Given the description of an element on the screen output the (x, y) to click on. 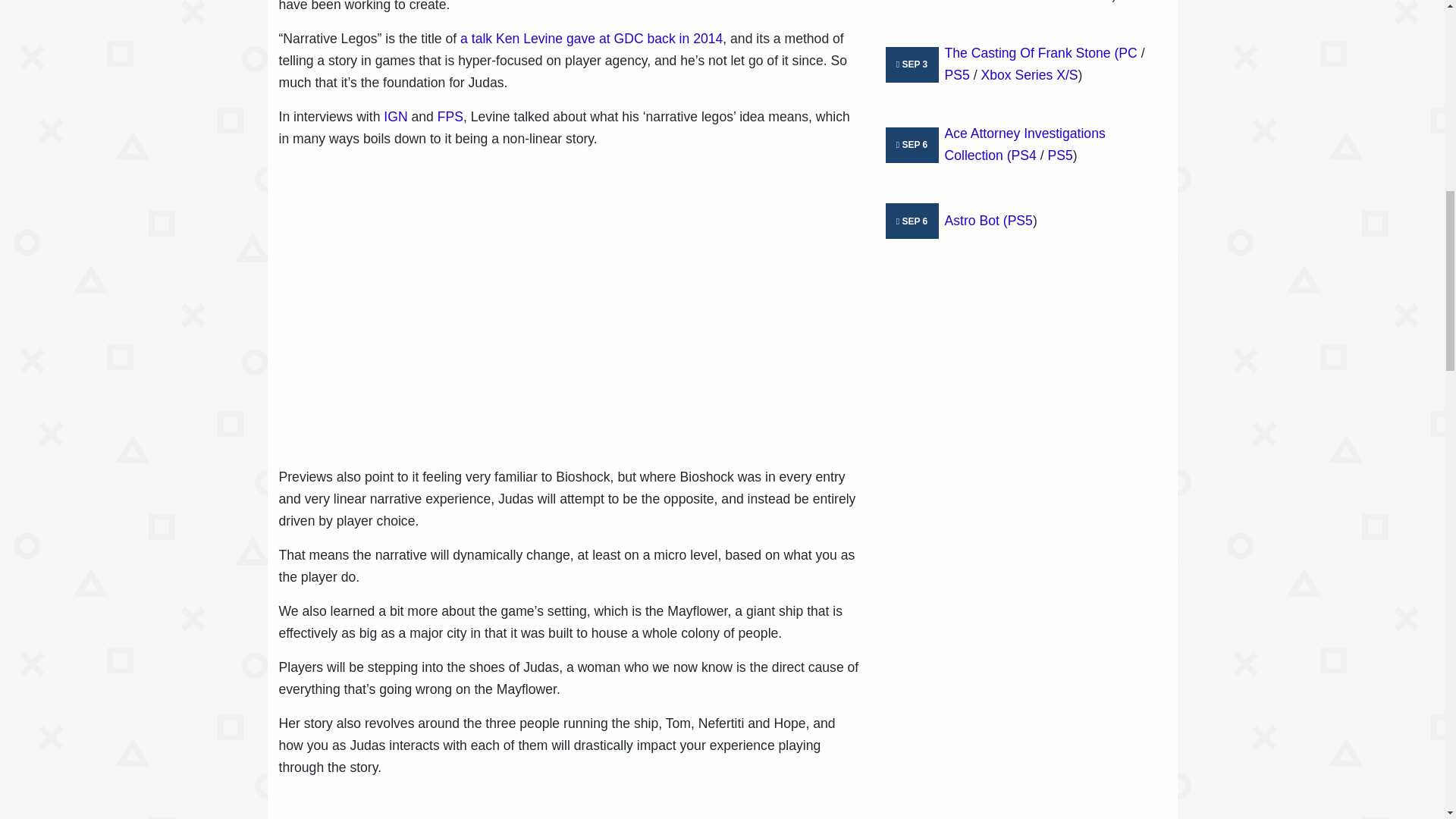
a talk Ken Levine gave at GDC back in 2014 (591, 38)
IGN (395, 116)
FPS (450, 116)
